Given the description of an element on the screen output the (x, y) to click on. 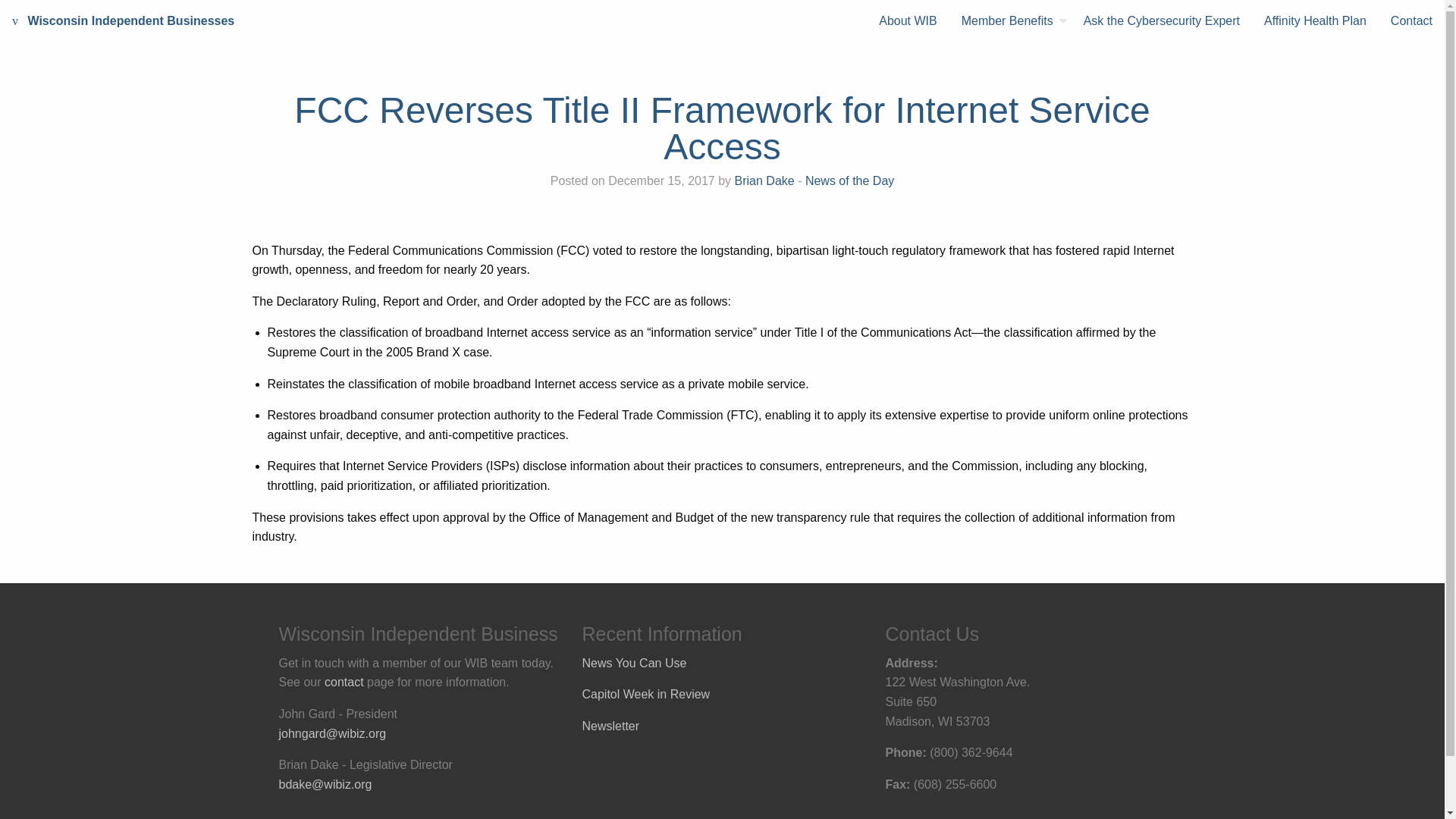
Member Benefits (1010, 21)
Affinity Health Plan (1315, 21)
Capitol Week in Review (646, 694)
contact (344, 681)
About WIB (907, 21)
Posts by Brian Dake (764, 180)
Brian Dake (764, 180)
Ask the Cybersecurity Expert (1161, 21)
News of the Day (849, 180)
wisconsin Wisconsin Independent Businesses (123, 21)
